Given the description of an element on the screen output the (x, y) to click on. 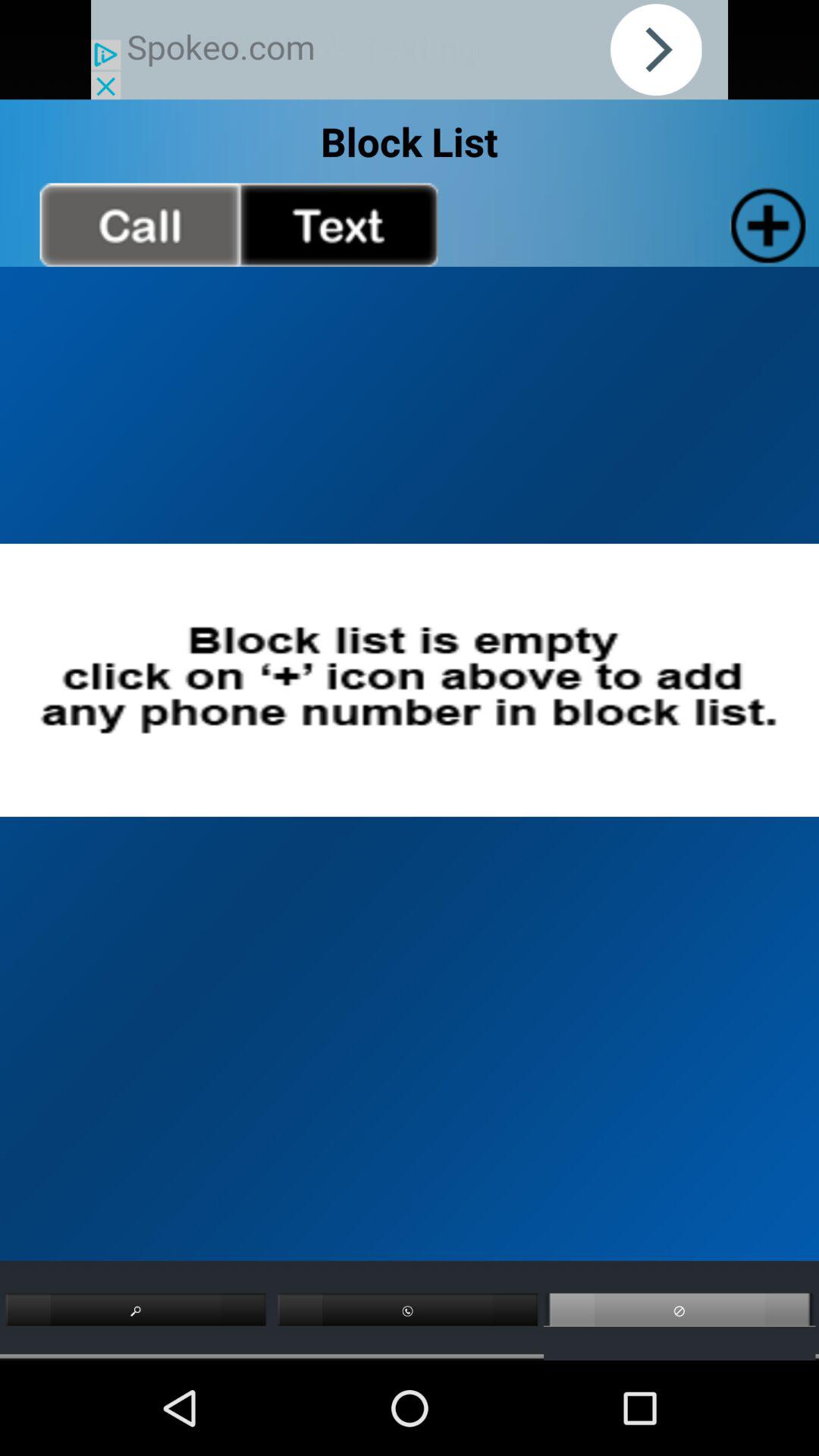
add phone to text block list (337, 224)
